Given the description of an element on the screen output the (x, y) to click on. 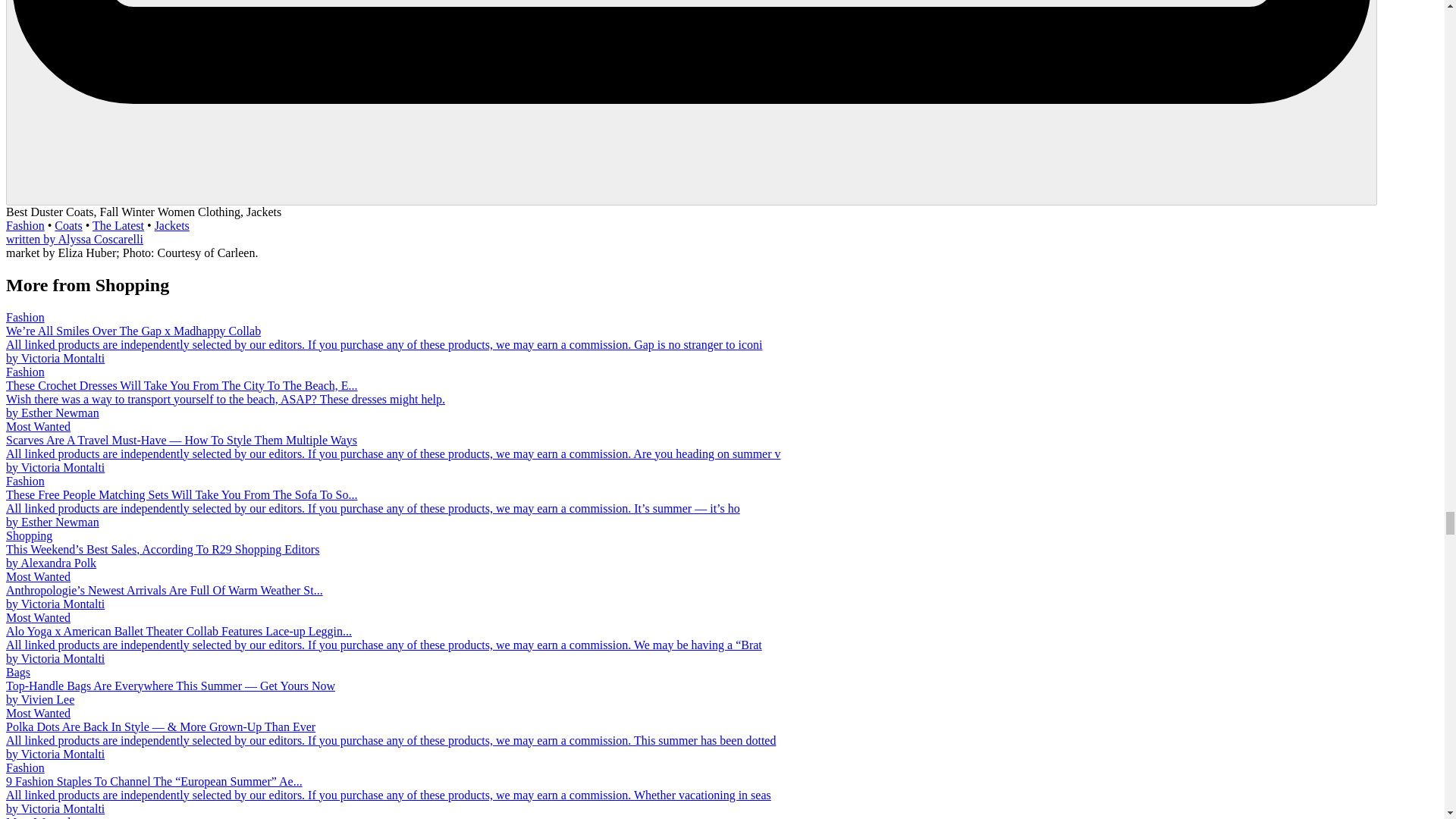
The Latest (118, 225)
Jackets (171, 225)
Coats (68, 225)
written by Alyssa Coscarelli (73, 238)
Fashion (25, 225)
